Given the description of an element on the screen output the (x, y) to click on. 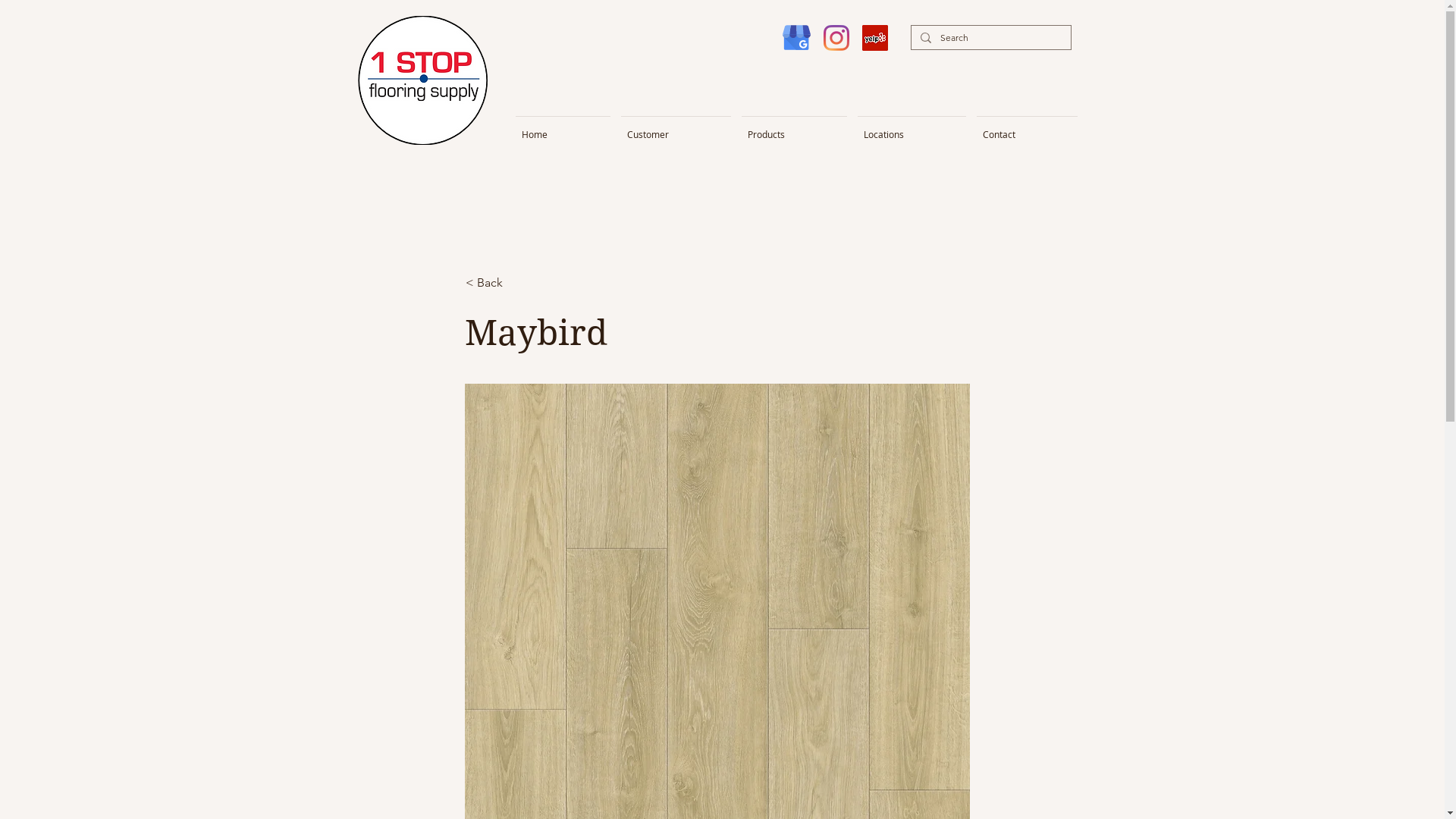
Customer Element type: text (675, 127)
Products Element type: text (793, 127)
Locations Element type: text (911, 127)
Contact Element type: text (1026, 127)
Home Element type: text (562, 127)
